Given the description of an element on the screen output the (x, y) to click on. 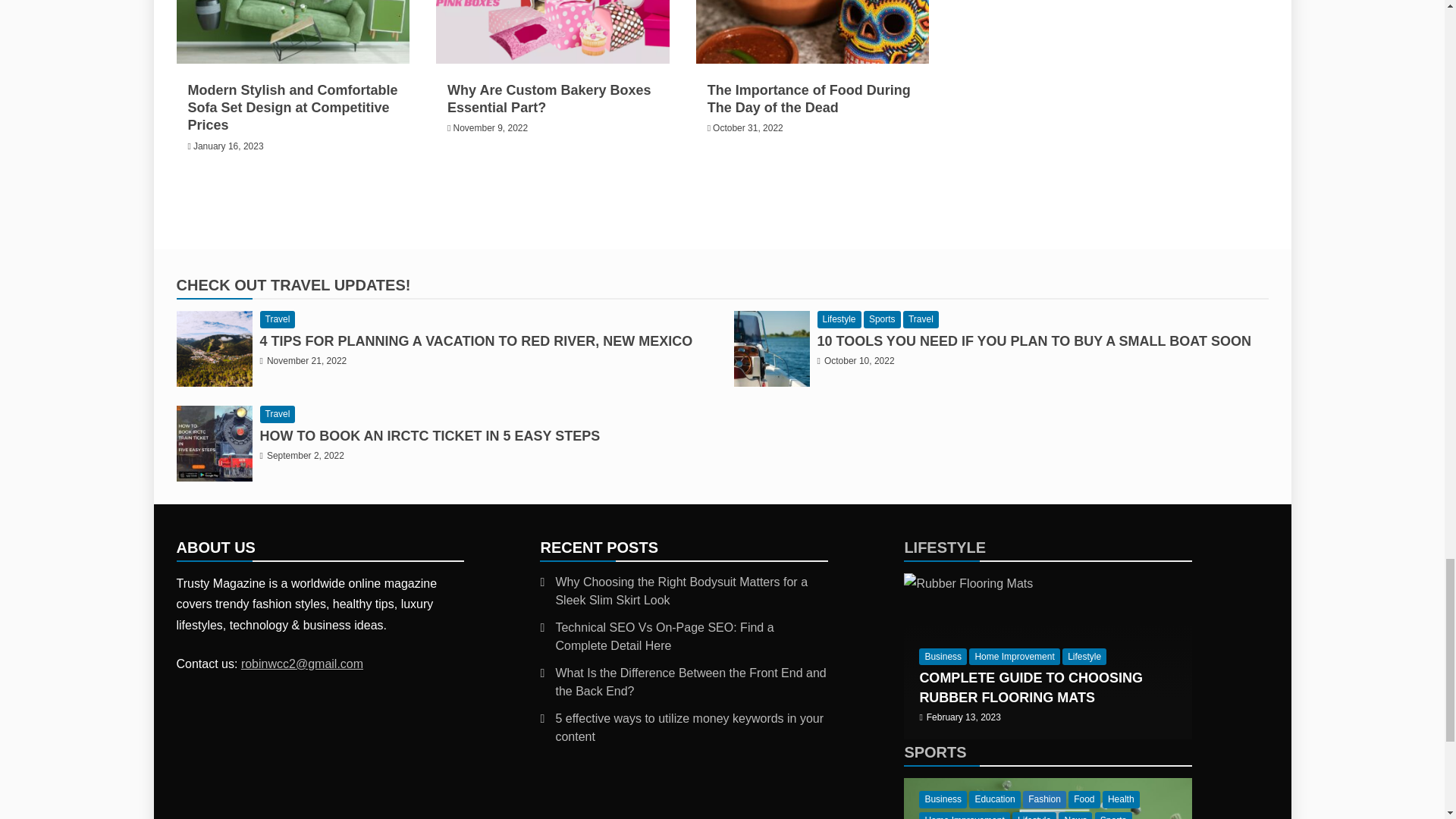
November 9, 2022 (489, 127)
Why Are Custom Bakery Boxes Essential Part? (548, 98)
The Importance of Food During The Day of the Dead (809, 98)
October 31, 2022 (748, 127)
January 16, 2023 (228, 145)
